Given the description of an element on the screen output the (x, y) to click on. 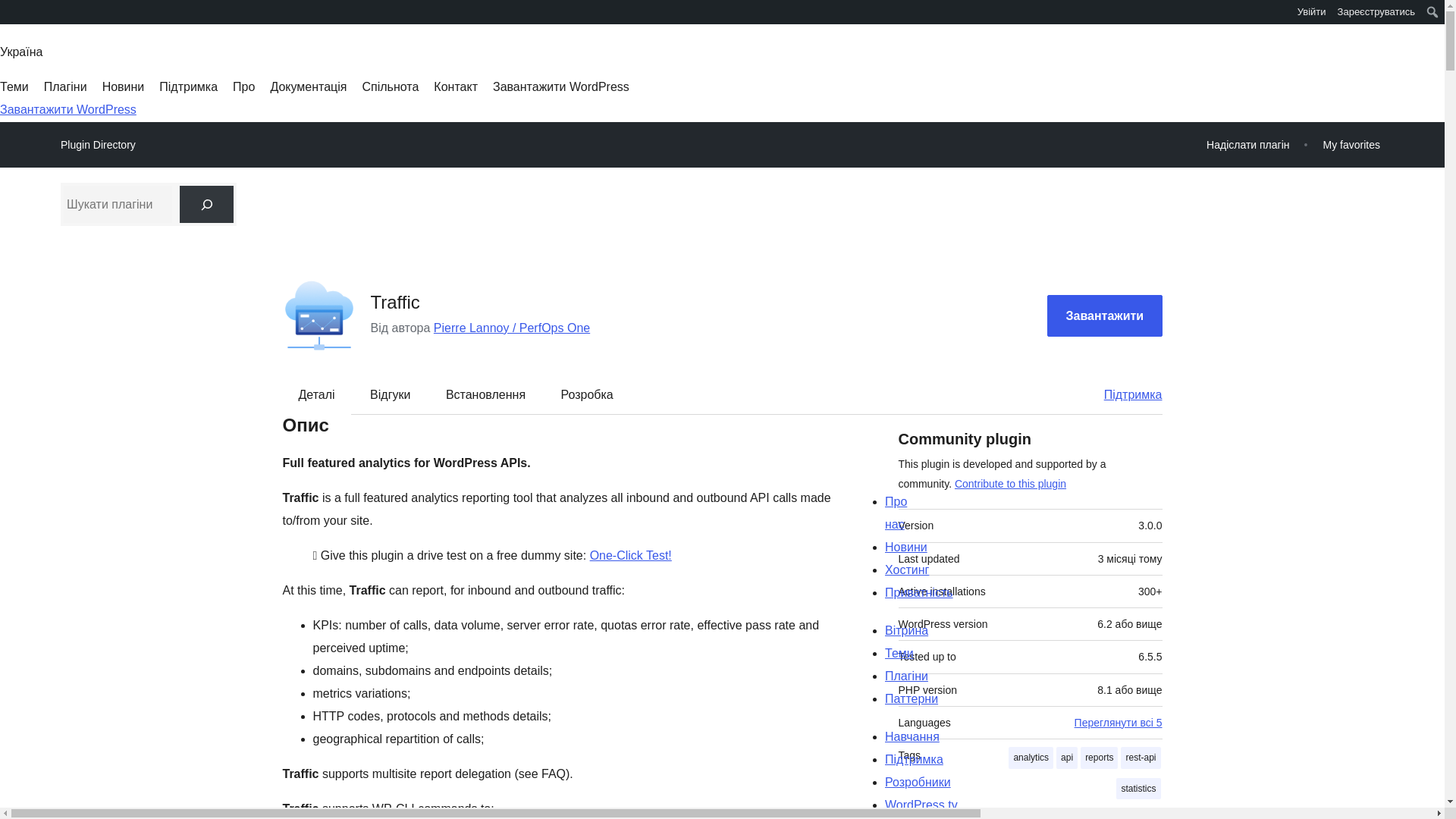
Plugin Directory (97, 144)
One-Click Test! (630, 554)
WordPress.org (10, 16)
WordPress.org (10, 10)
My favorites (1351, 144)
